Given the description of an element on the screen output the (x, y) to click on. 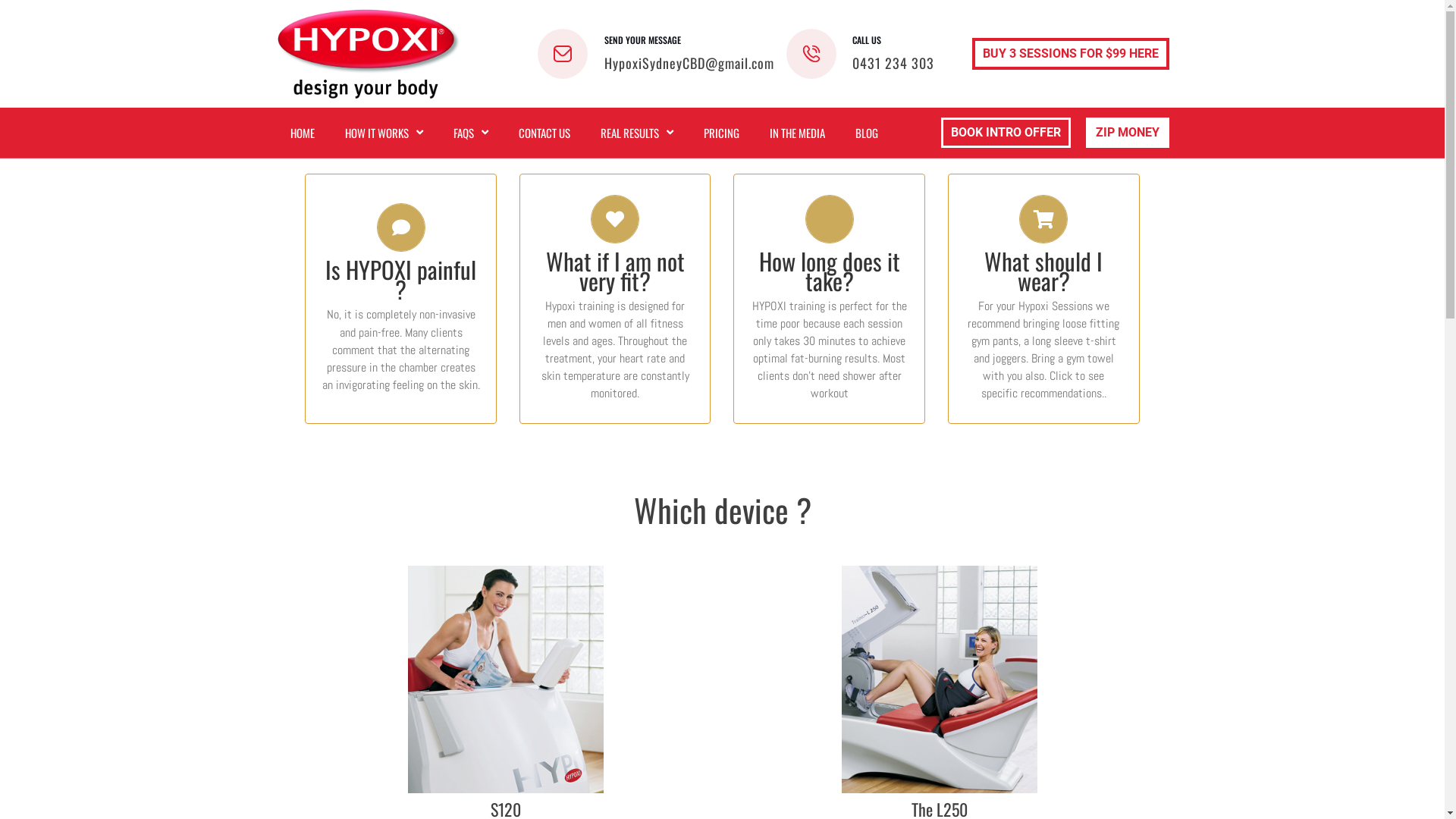
FAQS Element type: text (470, 132)
ZIP MONEY Element type: text (1127, 132)
BUY 3 SESSIONS FOR $99 HERE Element type: text (1070, 53)
CALL US
0431 234 303 Element type: text (860, 53)
BOOK INTRO OFFER Element type: text (1005, 132)
PRICING Element type: text (721, 132)
S120-Trainer3 Element type: hover (505, 679)
L250-Training-open-lid1 Element type: hover (939, 679)
BLOG Element type: text (866, 132)
HOW IT WORKS Element type: text (383, 132)
HOME Element type: text (301, 132)
IN THE MEDIA Element type: text (796, 132)
SEND YOUR MESSAGE
HypoxiSydneyCBD@gmail.com Element type: text (655, 53)
CONTACT US Element type: text (544, 132)
REAL RESULTS Element type: text (636, 132)
